Given the description of an element on the screen output the (x, y) to click on. 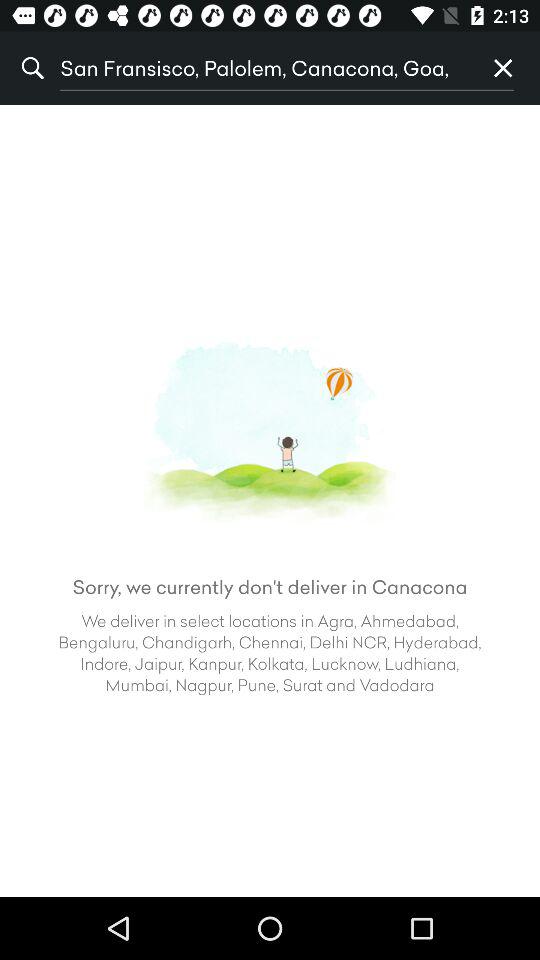
click item next to the % icon (263, 68)
